Given the description of an element on the screen output the (x, y) to click on. 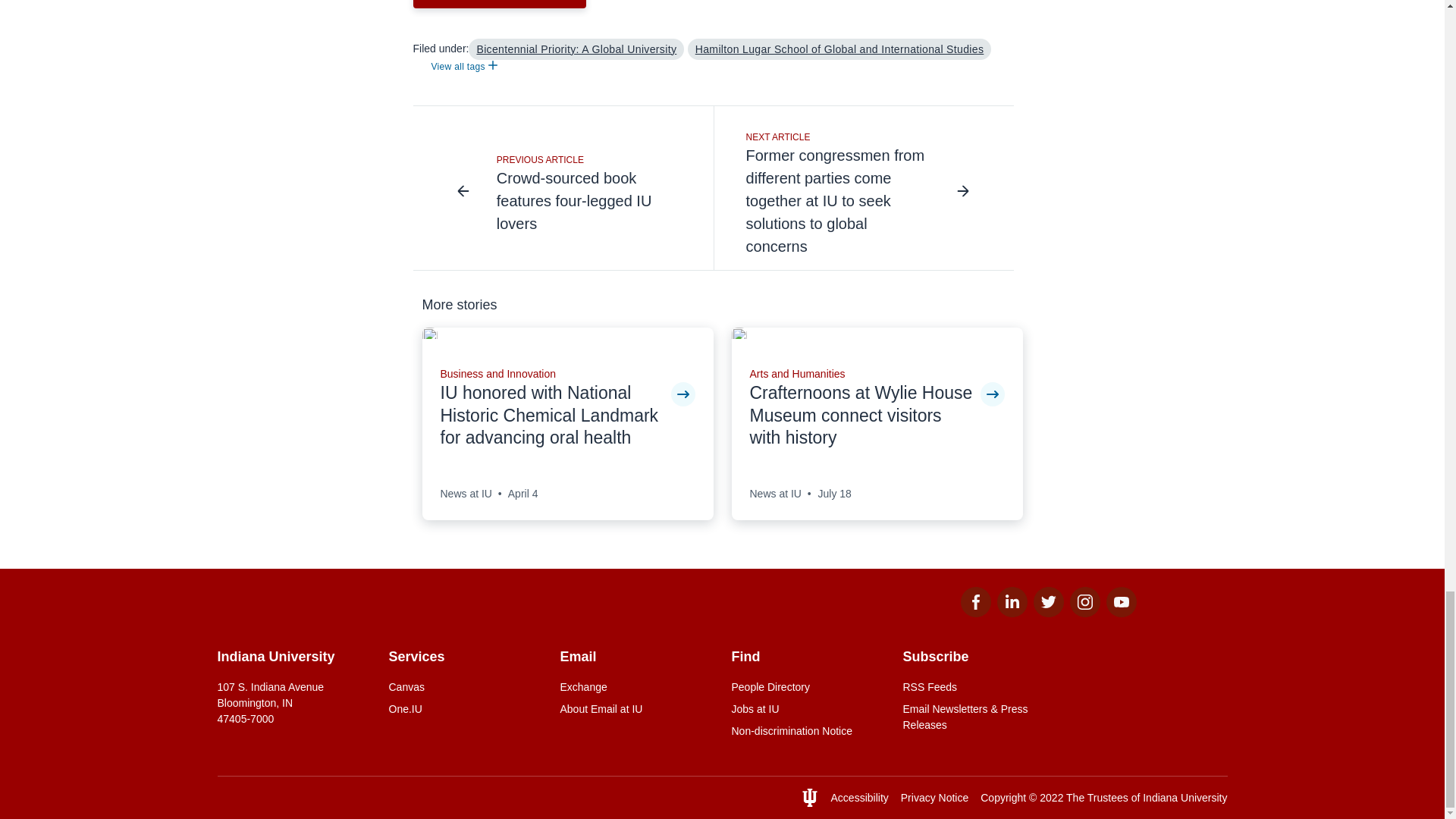
Non-discrimination Notice (806, 731)
Twitter for IU (1047, 612)
Privacy Notice (934, 797)
About Email at IU (636, 709)
Copyright (1002, 797)
Jobs at IU (806, 709)
Bicentennial Priority: A Global University (576, 48)
View all tags Plus sign (463, 67)
